Given the description of an element on the screen output the (x, y) to click on. 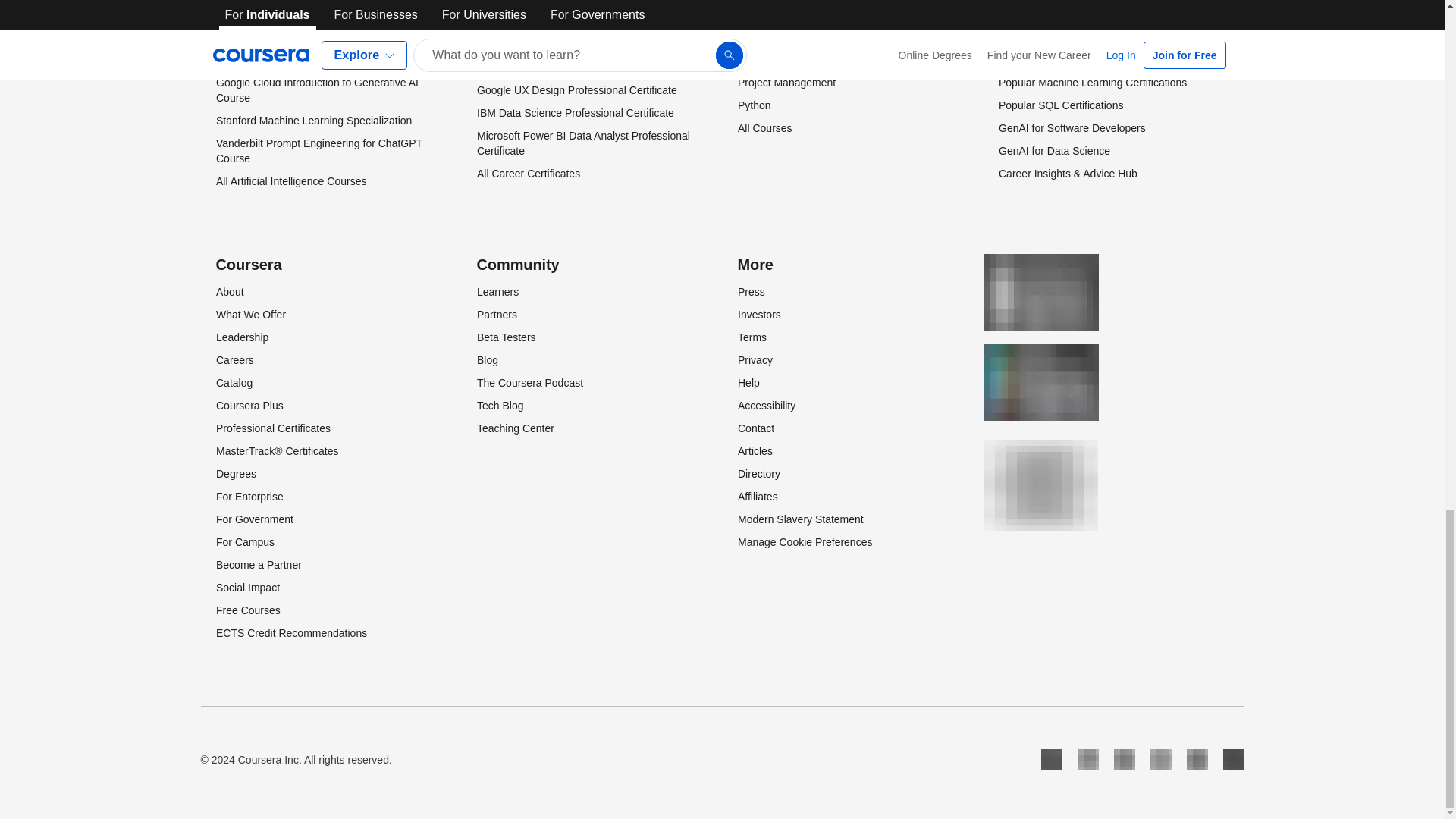
Google Cloud Introduction to Generative AI Course (316, 90)
DLAI GenAI For Everyone Course (295, 14)
All Artificial Intelligence Courses (290, 181)
Stanford Machine Learning Specialization (312, 120)
DLAI GenAI with LLMs Course (287, 37)
Vanderbilt Prompt Engineering for ChatGPT Course (318, 150)
Google AI Essentials (264, 60)
